Given the description of an element on the screen output the (x, y) to click on. 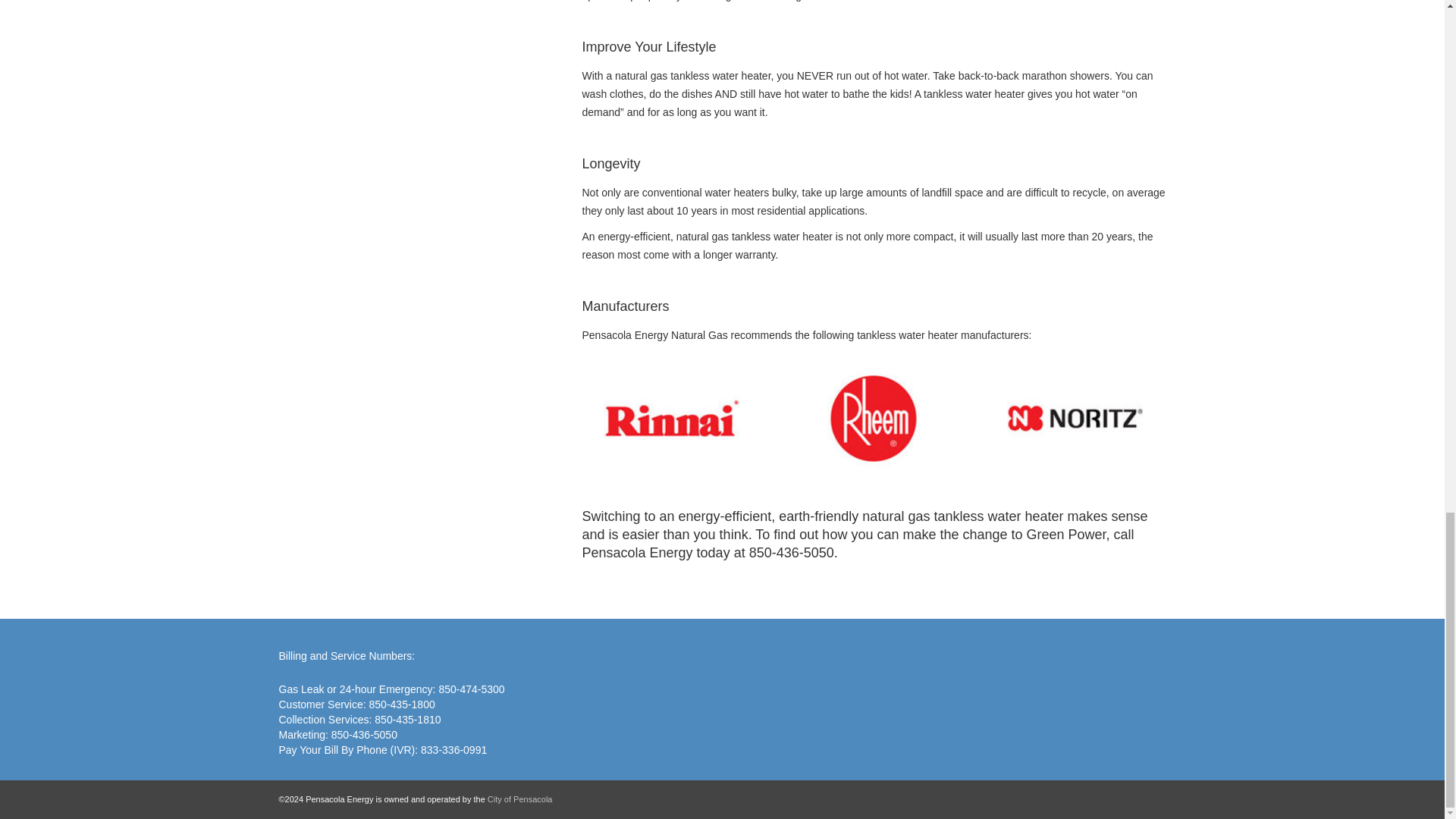
rheem200x130 (873, 417)
rinnai200x130 (671, 417)
